Given the description of an element on the screen output the (x, y) to click on. 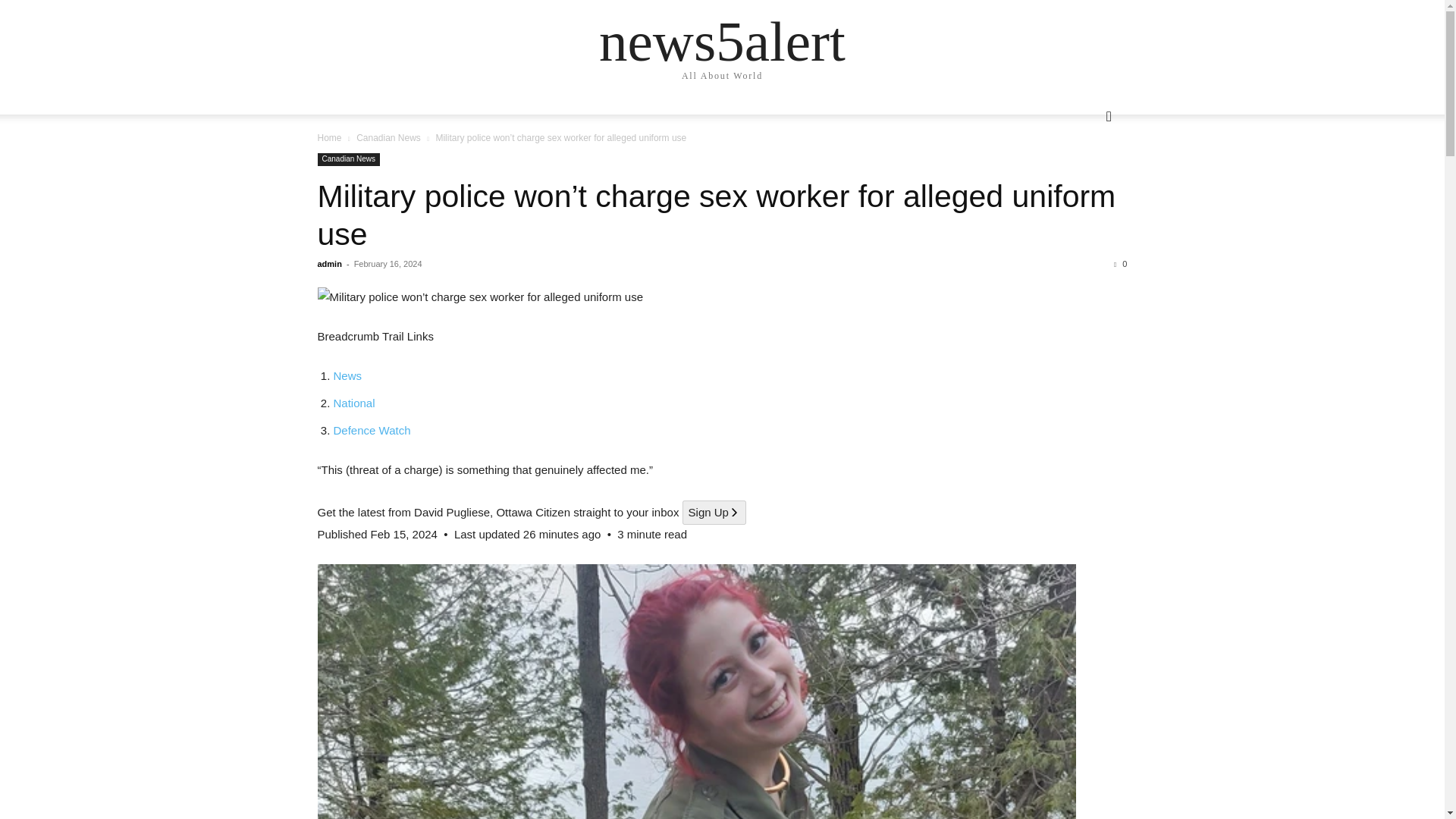
Search (1085, 177)
news5alert (721, 41)
0 (1119, 263)
View all posts in Canadian News (388, 137)
Canadian News (348, 159)
Defence Watch (371, 430)
Canadian News (388, 137)
admin (328, 263)
News (347, 375)
Home (328, 137)
